Given the description of an element on the screen output the (x, y) to click on. 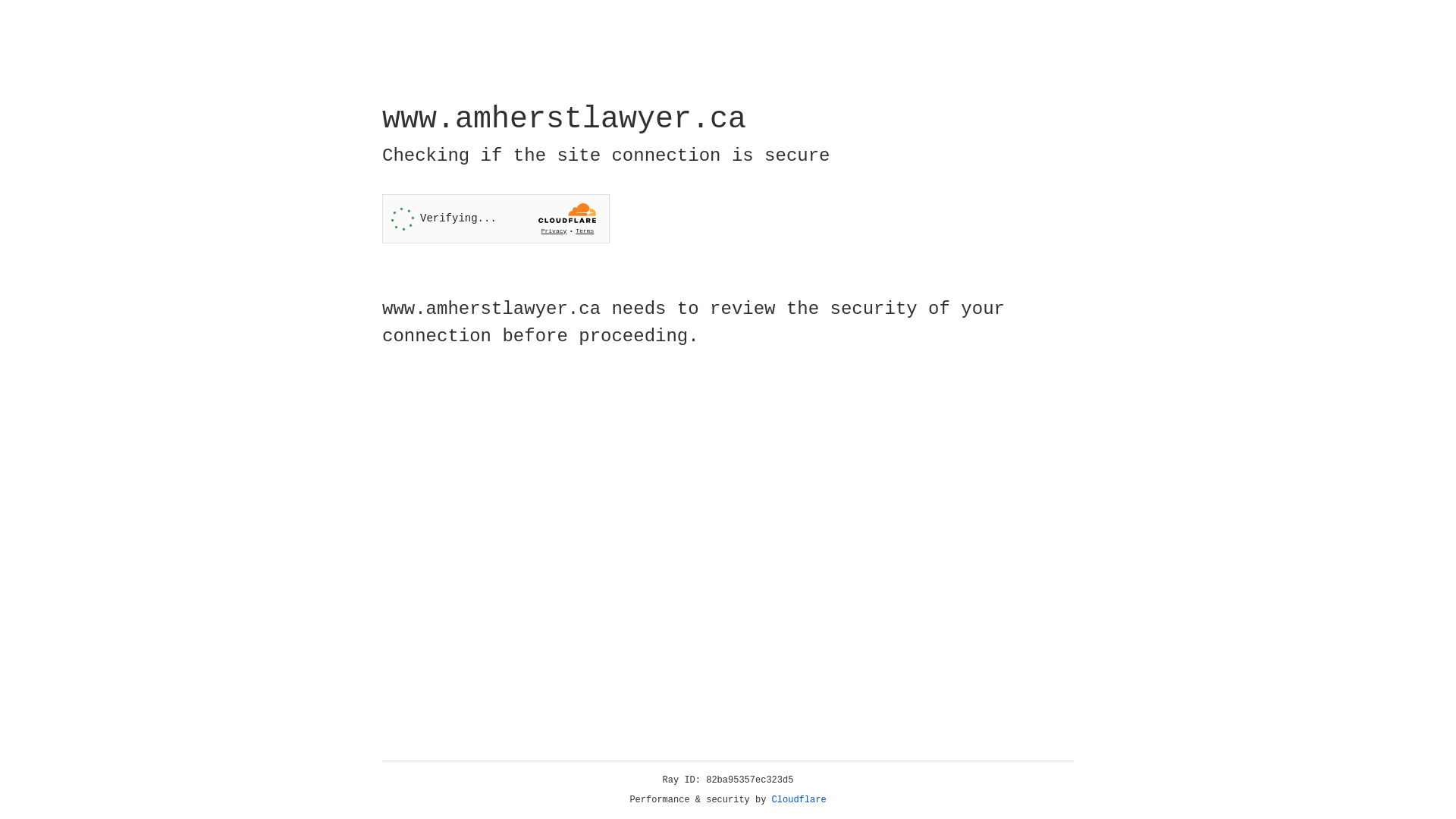
Cloudflare Element type: text (798, 799)
Widget containing a Cloudflare security challenge Element type: hover (495, 218)
